Given the description of an element on the screen output the (x, y) to click on. 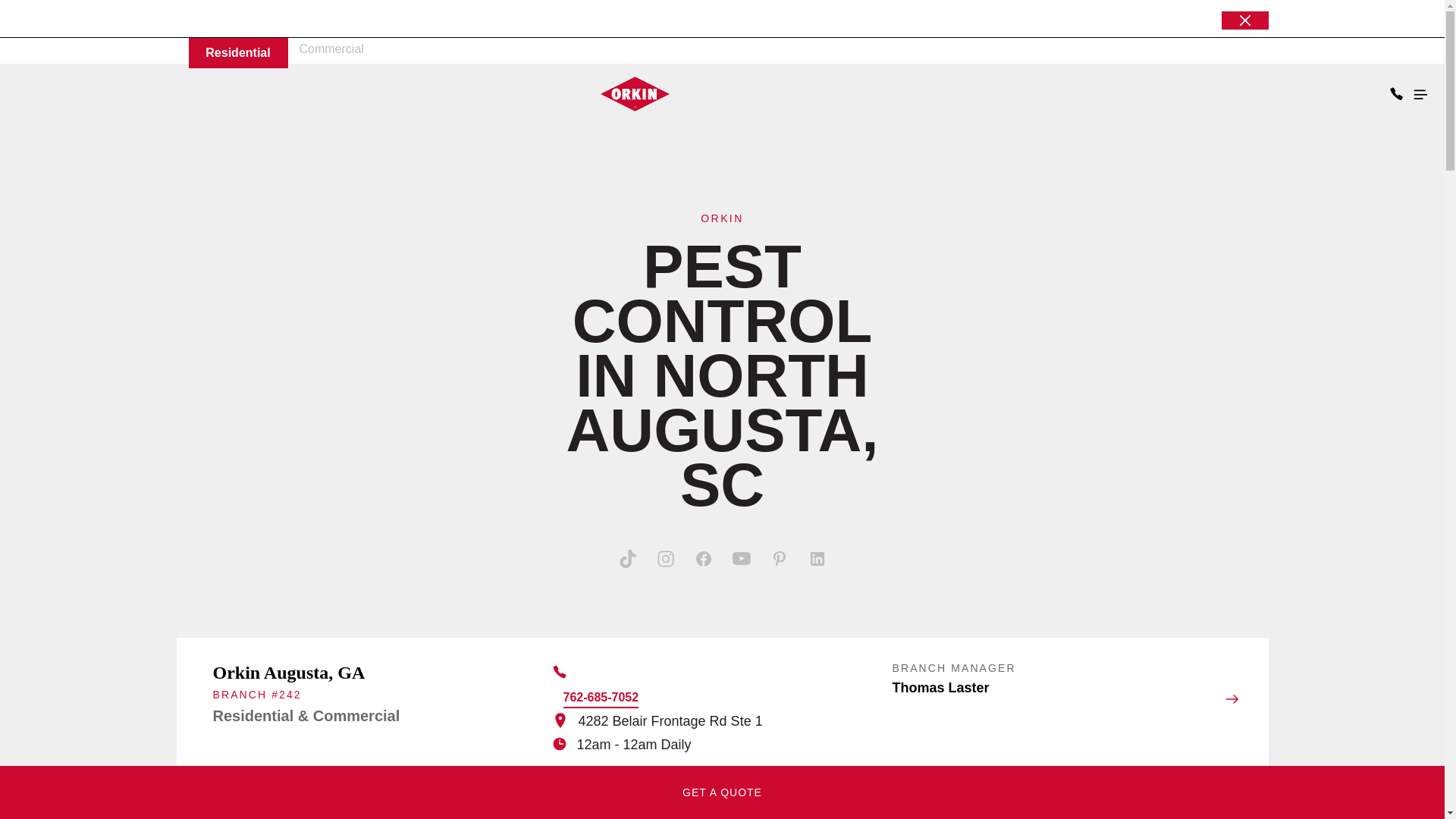
762-685-7052 (600, 699)
ORKIN (721, 218)
Residential (236, 52)
GET A QUOTE (722, 792)
Commercial (330, 48)
